Given the description of an element on the screen output the (x, y) to click on. 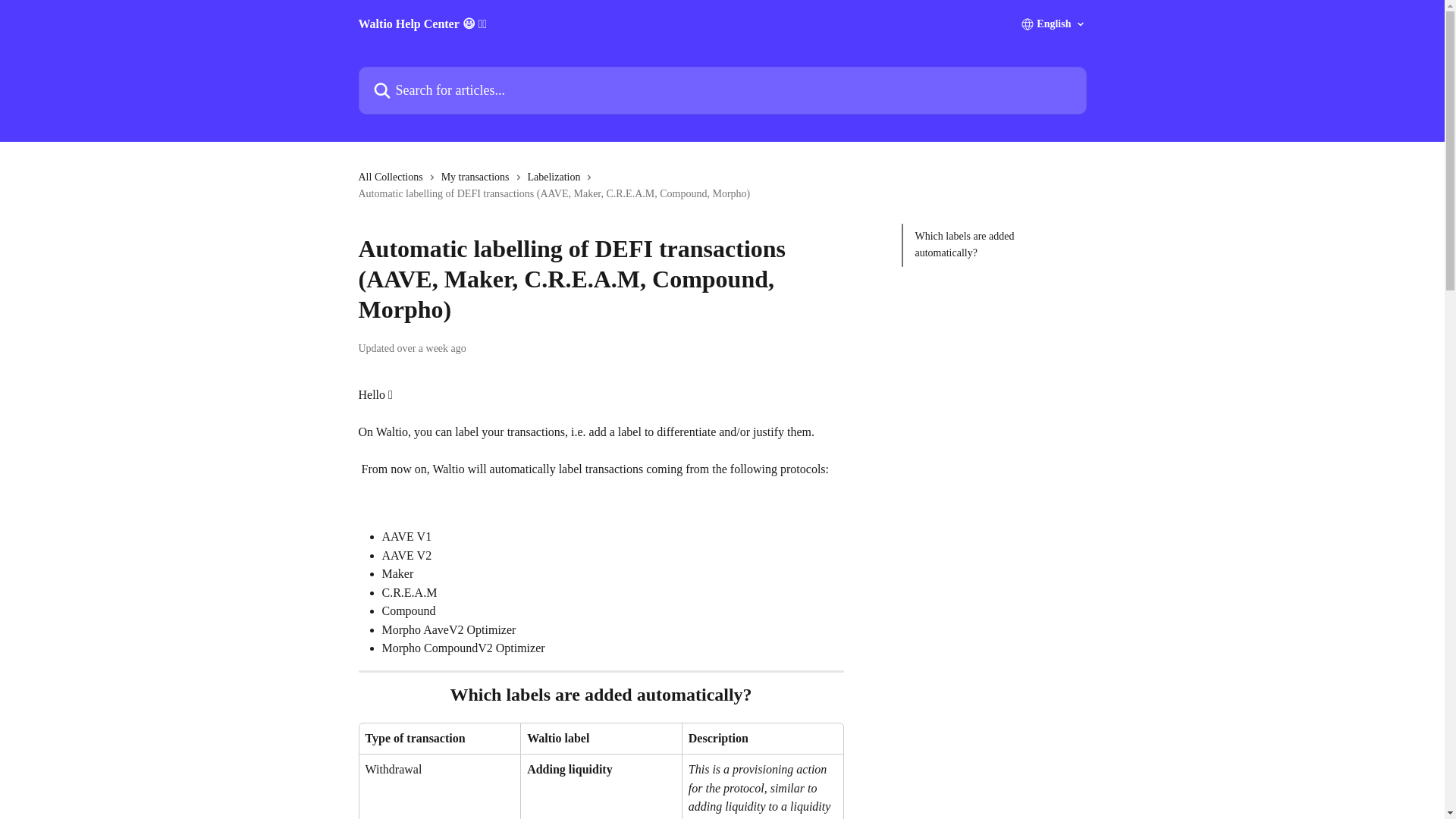
My transactions (478, 176)
All Collections (393, 176)
Labelization (556, 176)
Which labels are added automatically? (994, 245)
